Given the description of an element on the screen output the (x, y) to click on. 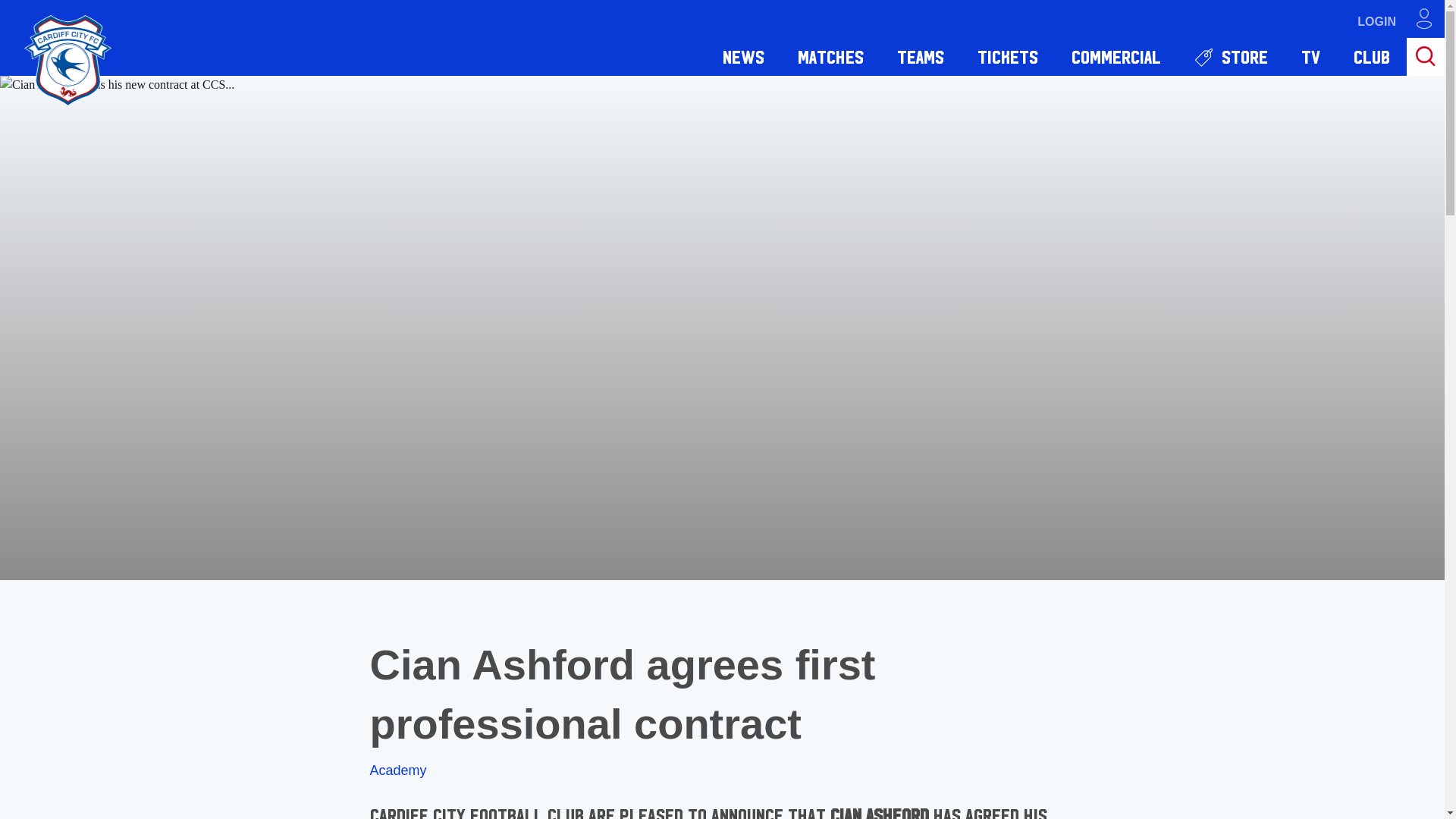
NEWS (743, 56)
MATCHES (830, 56)
STORE (1230, 56)
COMMERCIAL (1115, 56)
TICKETS (1007, 56)
TEAMS (920, 56)
